Given the description of an element on the screen output the (x, y) to click on. 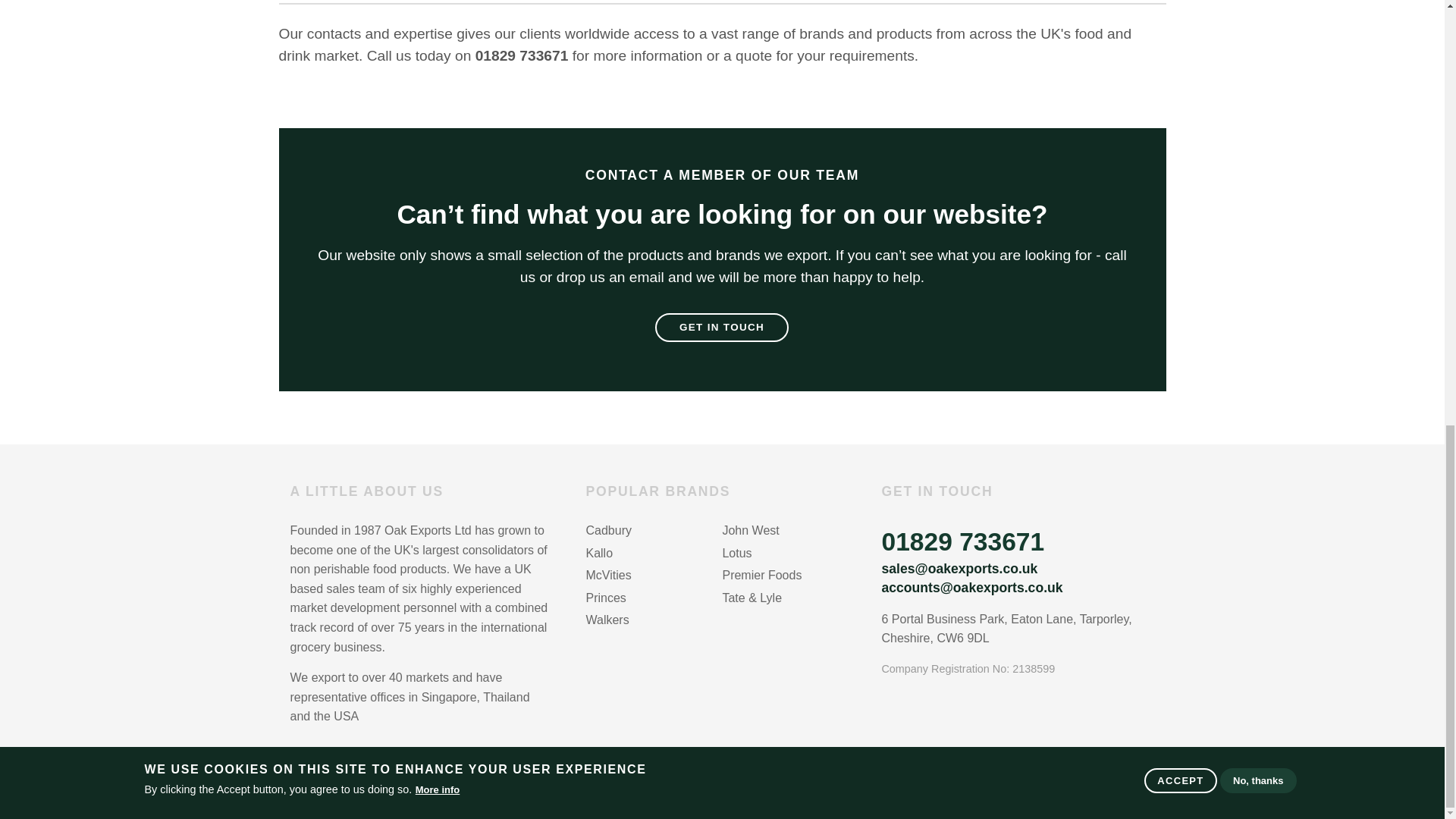
GET IN TOUCH (722, 327)
Premier Foods (790, 576)
Walkers (653, 621)
Cadbury (653, 531)
Kallo (653, 554)
Lotus (790, 554)
Princes (653, 599)
McVities (653, 576)
John West (790, 531)
